Given the description of an element on the screen output the (x, y) to click on. 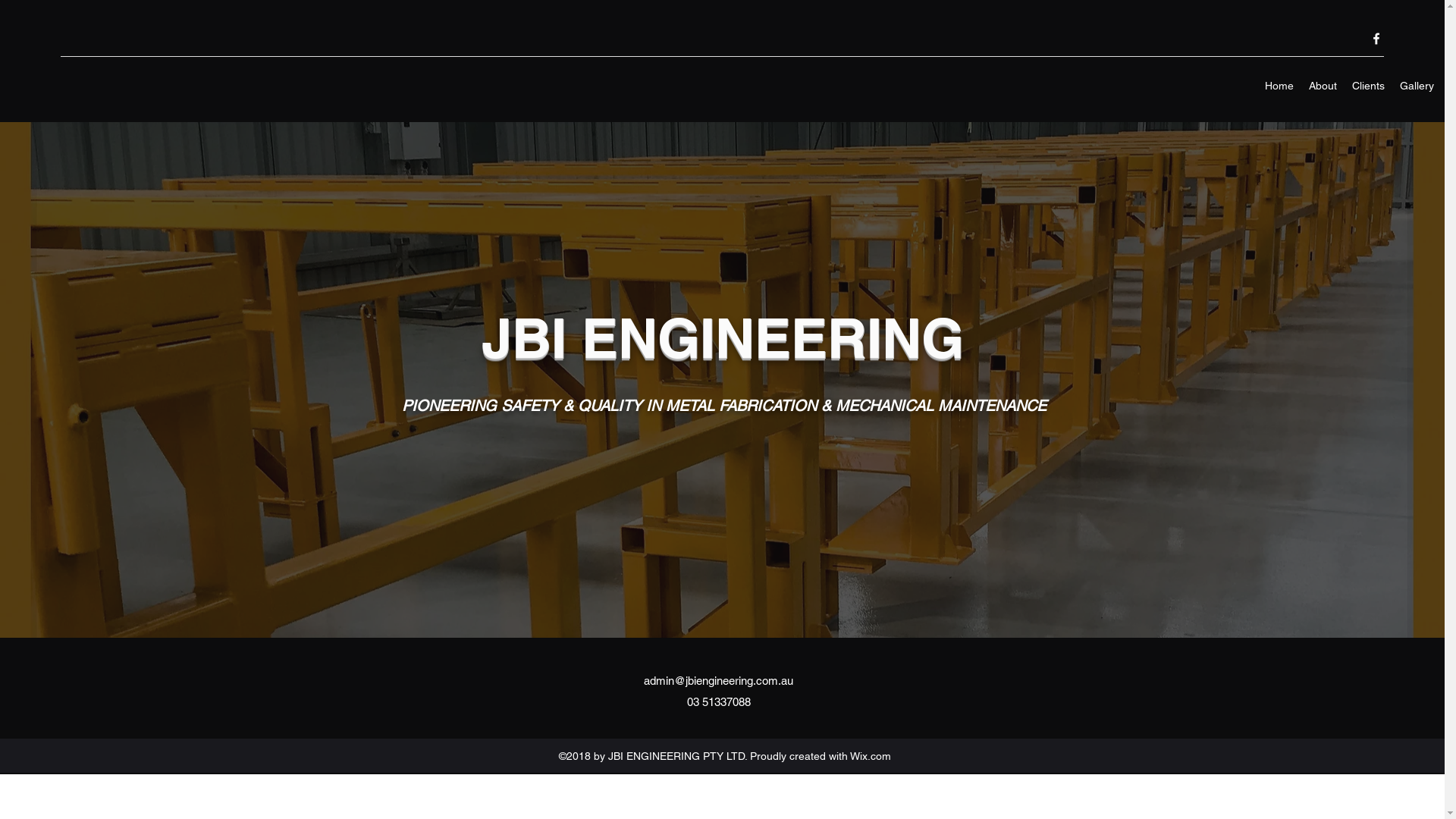
admin@jbiengineering.com.au Element type: text (717, 680)
Gallery Element type: text (1416, 85)
Home Element type: text (1279, 85)
About Element type: text (1322, 85)
Clients Element type: text (1368, 85)
